Given the description of an element on the screen output the (x, y) to click on. 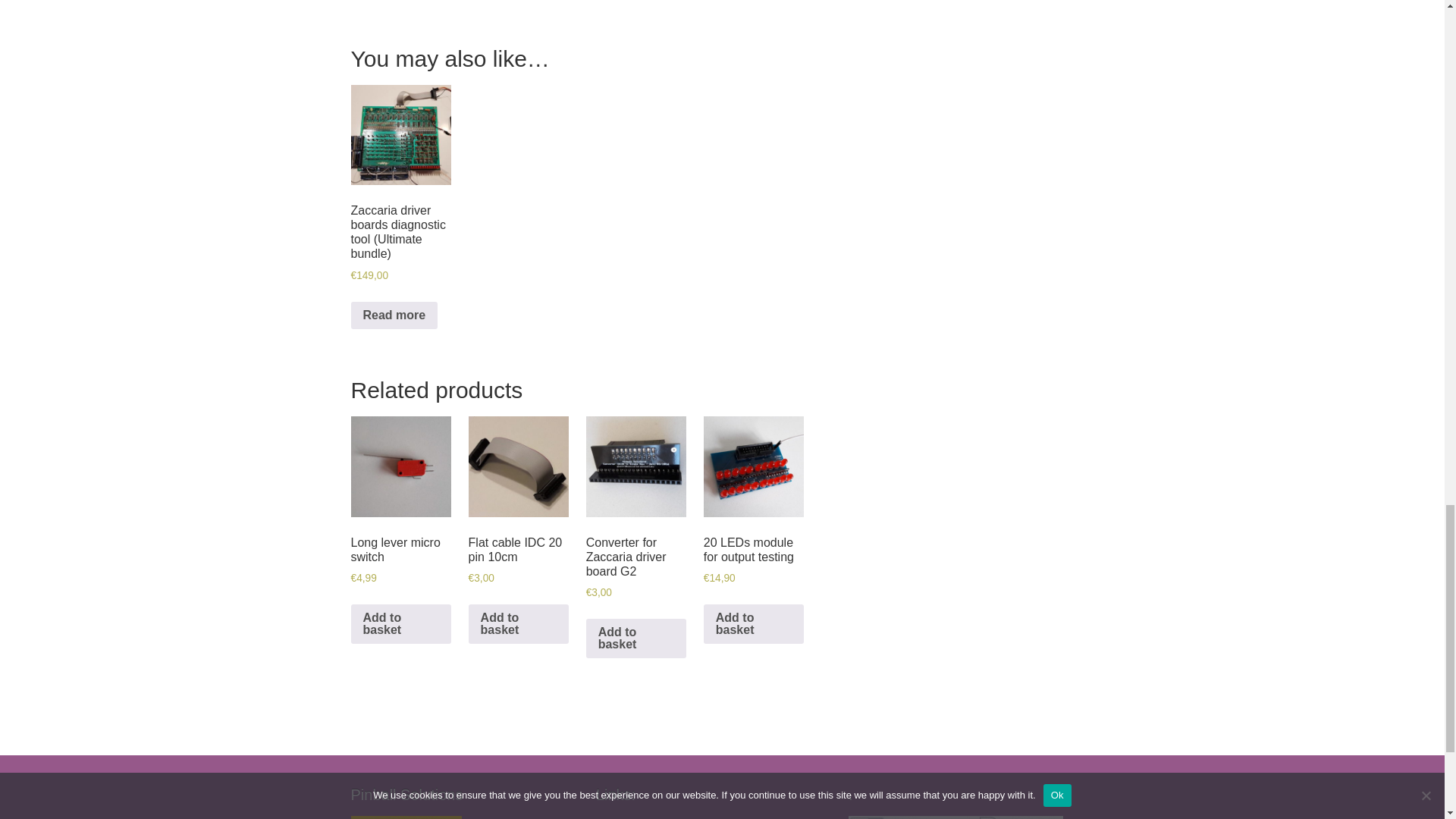
Zaccaria Driver Boards diagnostic tool (577, 7)
